Given the description of an element on the screen output the (x, y) to click on. 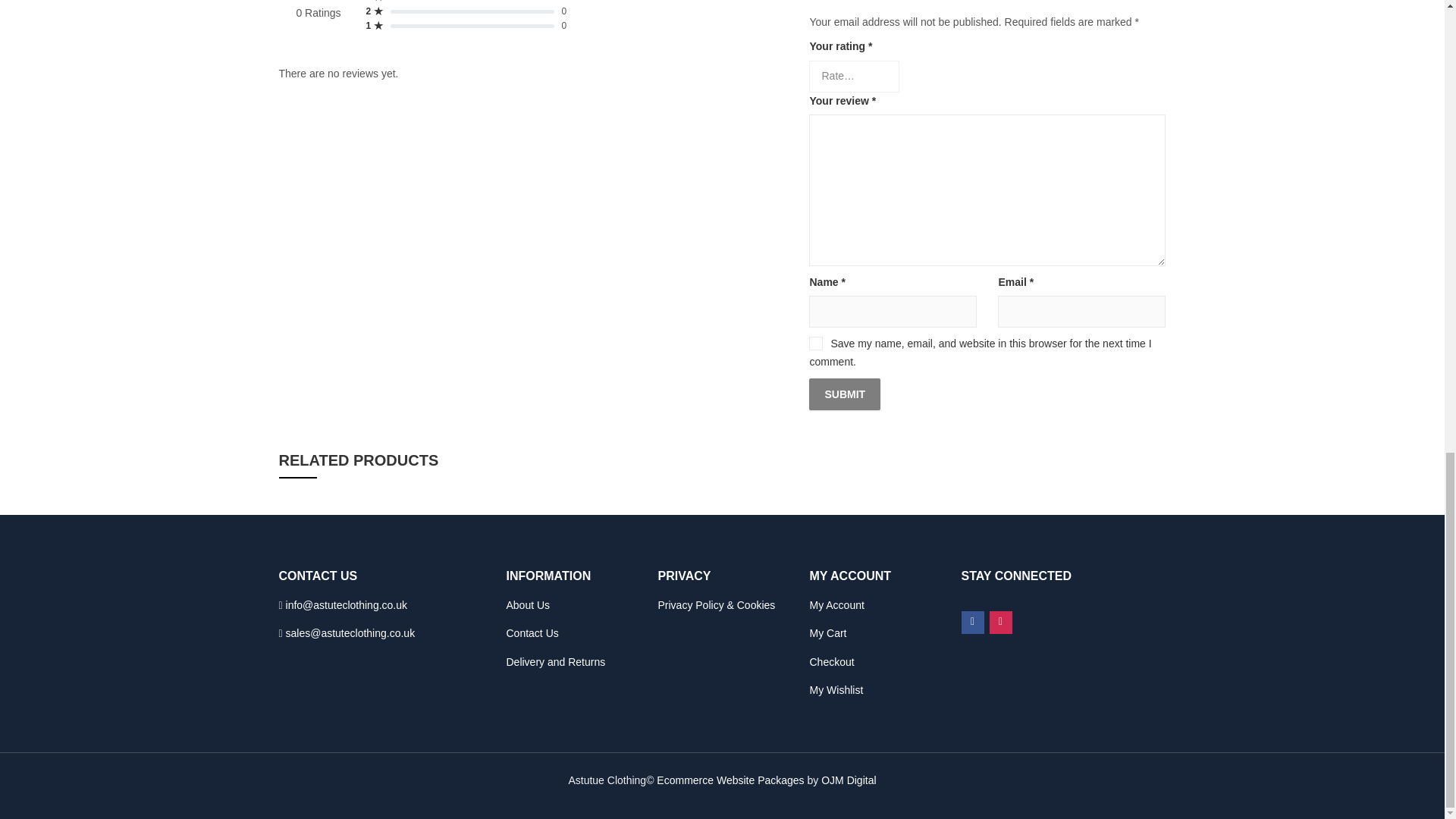
yes (815, 343)
Ecommerce Website Packages (729, 780)
Submit (844, 394)
